Given the description of an element on the screen output the (x, y) to click on. 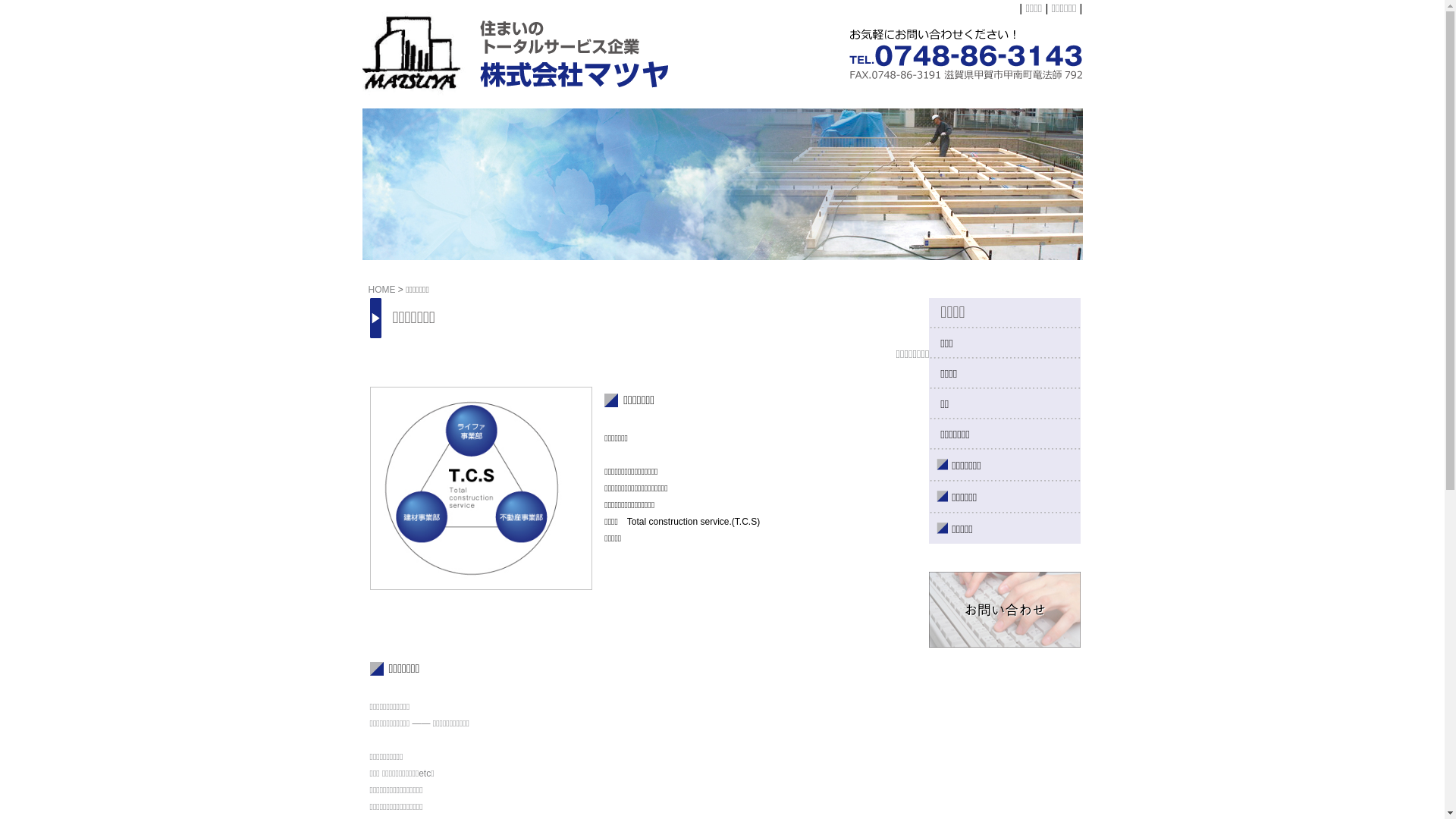
HOME Element type: text (381, 289)
